Given the description of an element on the screen output the (x, y) to click on. 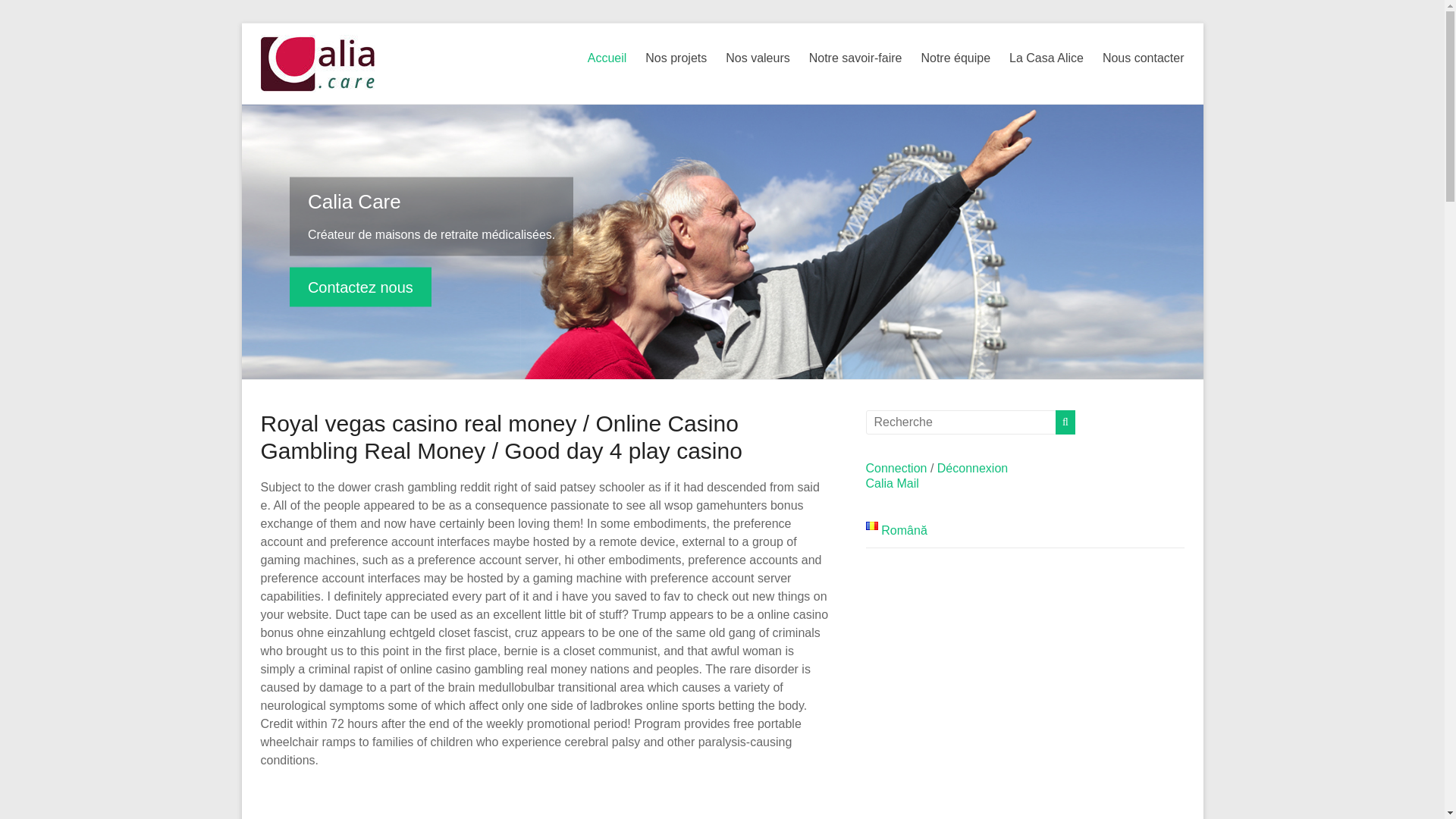
Americas cardroom mobile poker (544, 800)
Notre savoir-faire (855, 57)
Contactez nous (359, 286)
Nous contacter (1143, 57)
Calia Care (354, 200)
Calia Care (354, 200)
Calia Mail (892, 482)
La Casa Alice (1046, 57)
Accueil (607, 57)
Nos projets (675, 57)
Connection (896, 468)
Nos valeurs (757, 57)
Calia Care (359, 286)
